Given the description of an element on the screen output the (x, y) to click on. 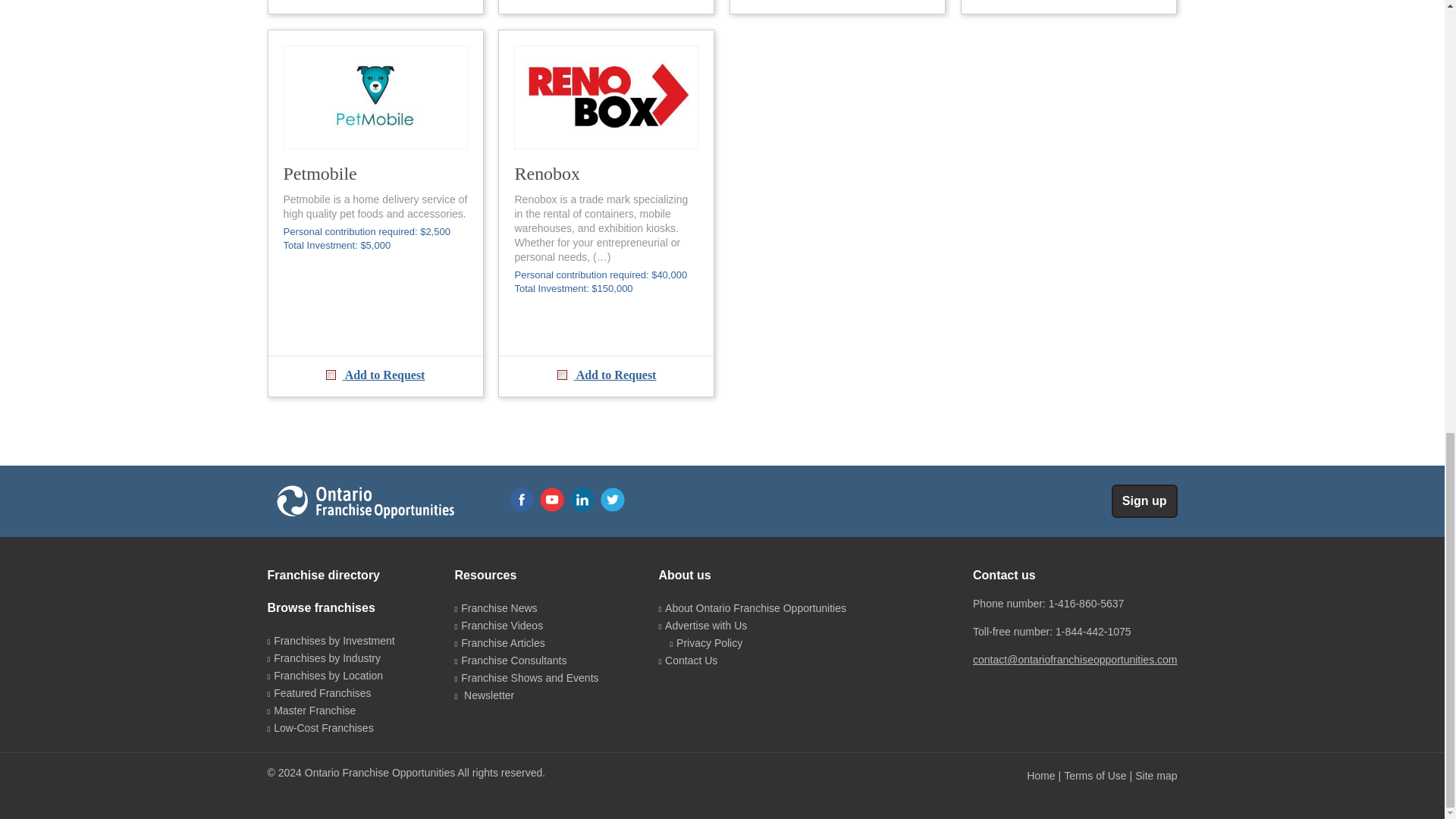
Add to Request (606, 6)
Add to Request (375, 6)
